Given the description of an element on the screen output the (x, y) to click on. 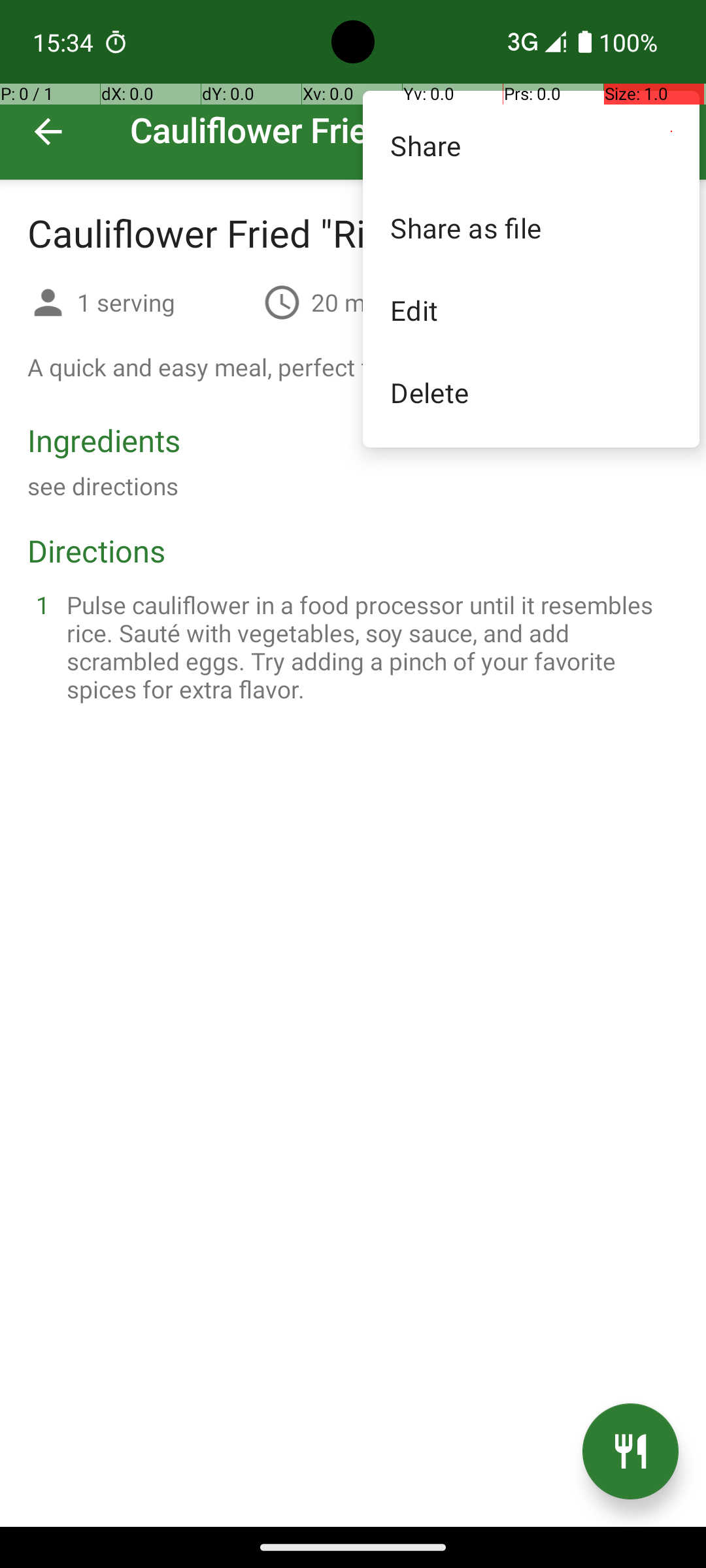
Share as file Element type: android.widget.TextView (531, 227)
